Given the description of an element on the screen output the (x, y) to click on. 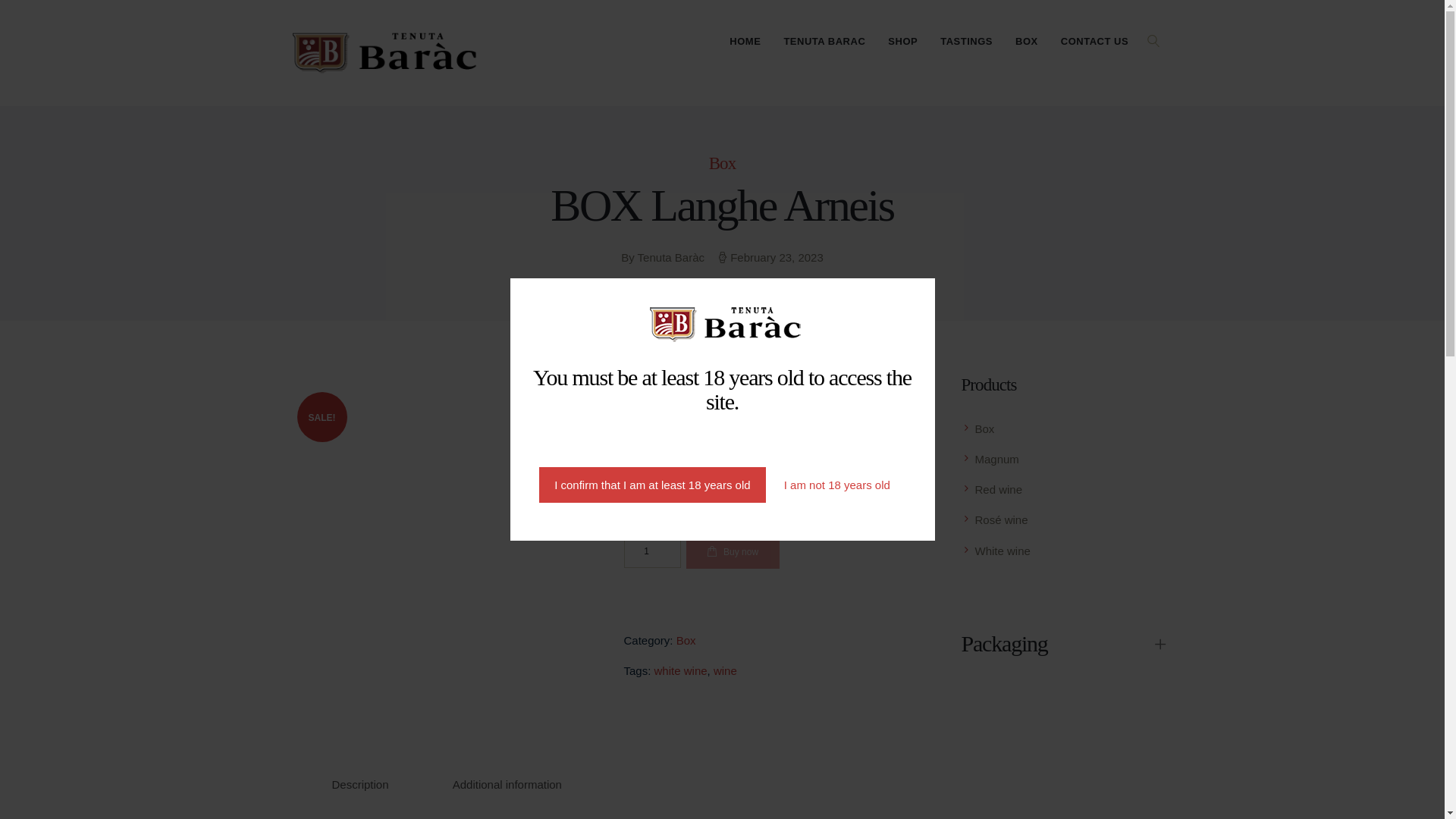
Description (360, 784)
TASTINGS (966, 40)
TENUTA BARAC (823, 40)
SHOP (902, 40)
I am not 18 years old (836, 484)
Box (722, 162)
1 (651, 551)
HOME (744, 40)
BOX (1026, 40)
View all posts in Box (722, 162)
Additional information (507, 784)
wine (724, 670)
white wine (680, 670)
February 23, 2023 (777, 256)
Box (686, 640)
